Given the description of an element on the screen output the (x, y) to click on. 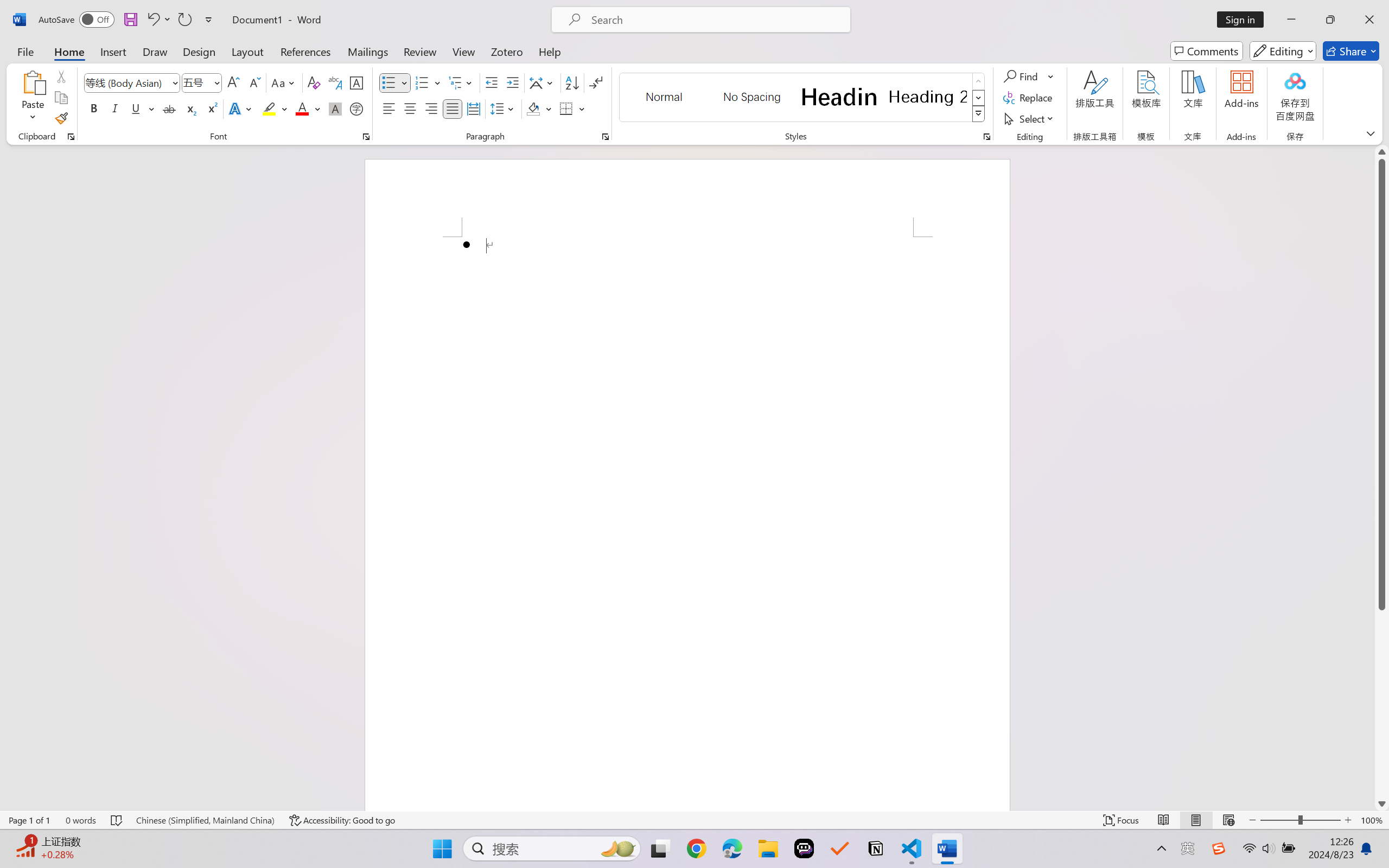
Undo Bullet Default (152, 19)
